Given the description of an element on the screen output the (x, y) to click on. 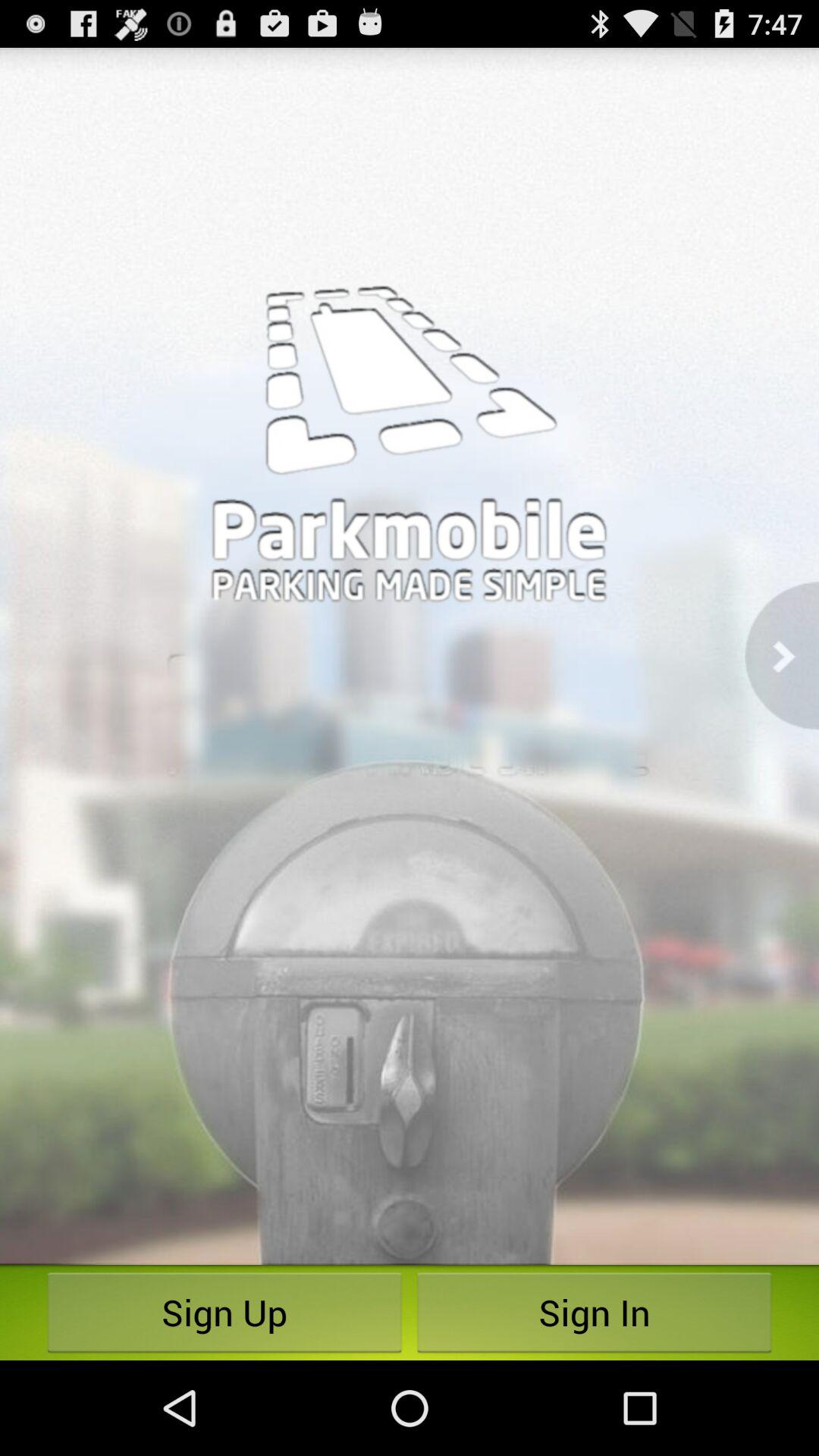
turn off the item at the bottom left corner (224, 1312)
